Given the description of an element on the screen output the (x, y) to click on. 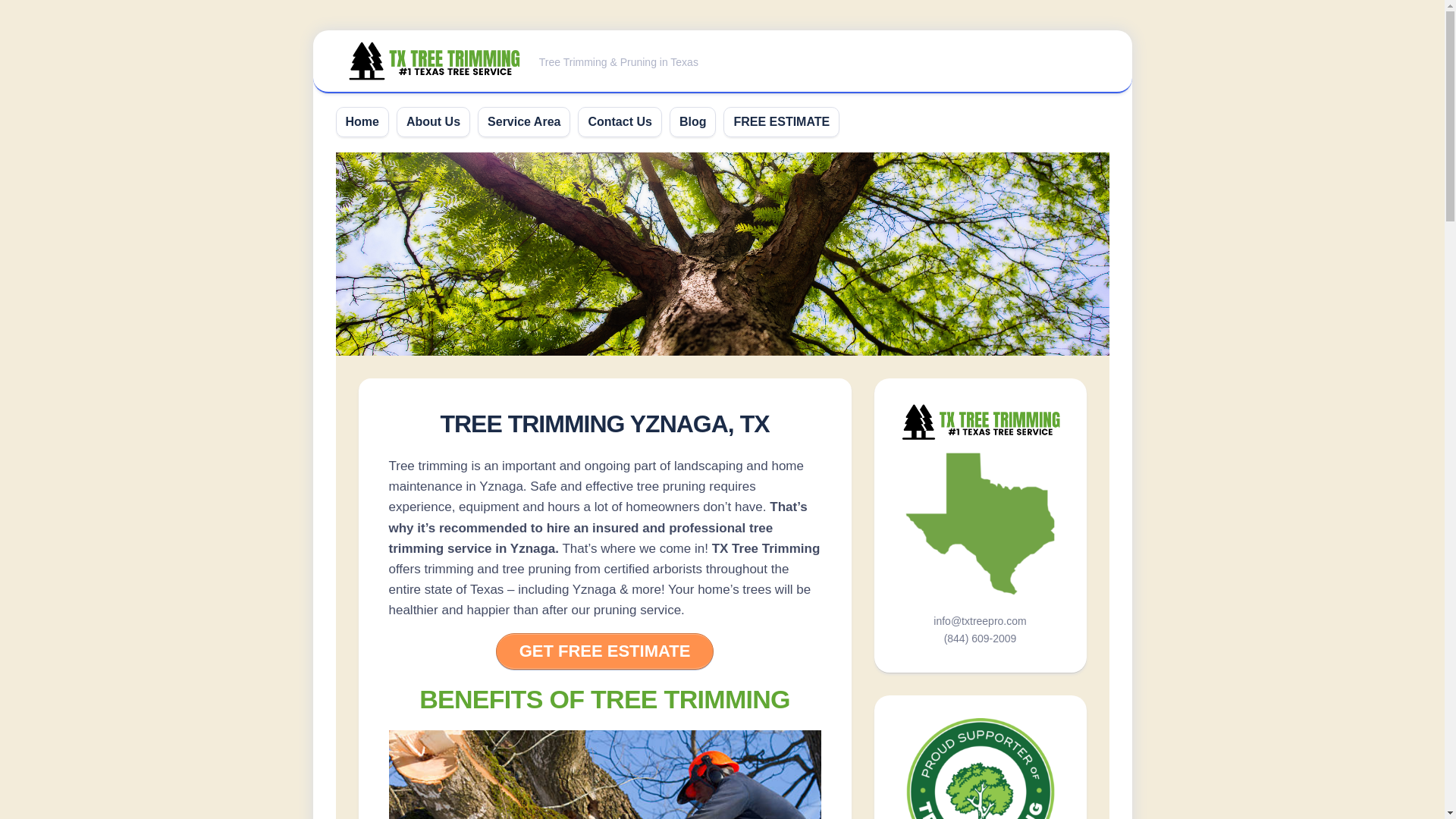
FREE ESTIMATE (781, 121)
Contact Us (619, 121)
About Us (433, 121)
Home (362, 121)
Blog (692, 121)
Service Area (523, 121)
GET FREE ESTIMATE (605, 651)
